Given the description of an element on the screen output the (x, y) to click on. 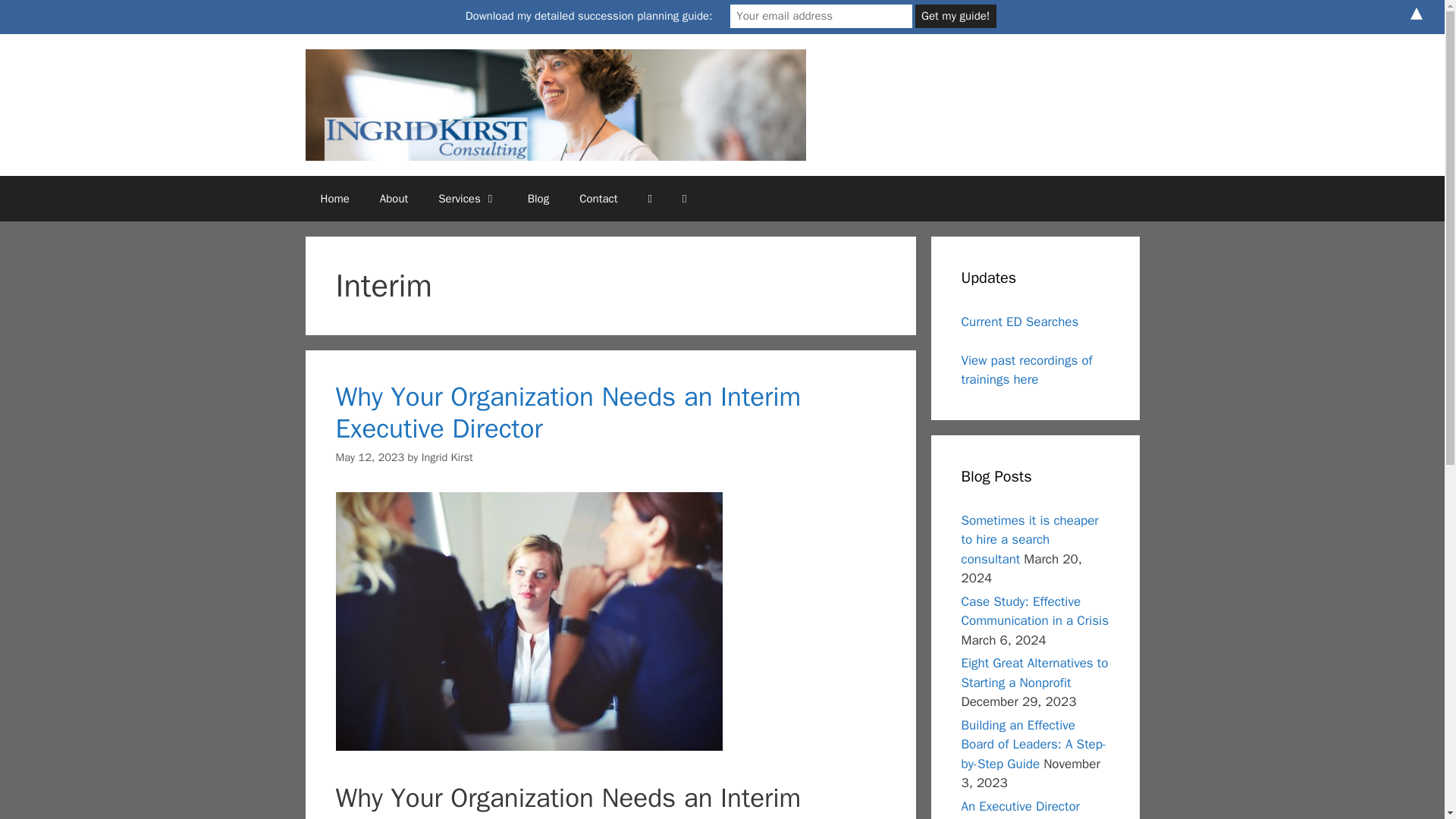
Services (467, 198)
Case Study: Effective Communication in a Crisis (1034, 611)
View past recordings of trainings here (1026, 370)
Ingrid Kirst (447, 457)
Get my guide! (955, 15)
Blog (538, 198)
Contact (597, 198)
Sometimes it is cheaper to hire a search consultant (1029, 539)
View all posts by Ingrid Kirst (447, 457)
Eight Great Alternatives to Starting a Nonprofit (1034, 673)
